Given the description of an element on the screen output the (x, y) to click on. 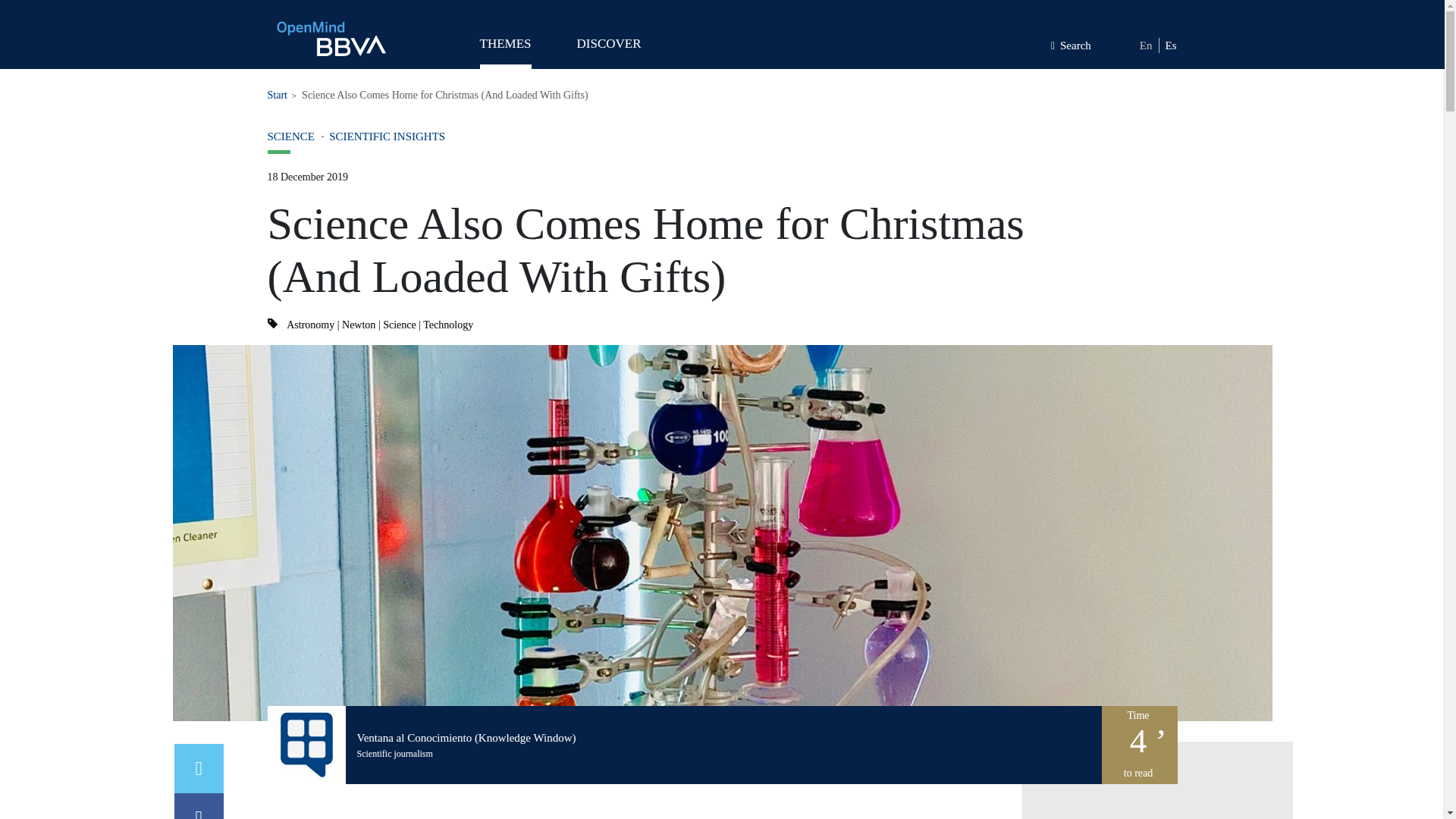
OpenMind (330, 38)
OpenMind (330, 38)
DESCUBRE (608, 50)
TEMAS (505, 50)
Start (276, 94)
